Given the description of an element on the screen output the (x, y) to click on. 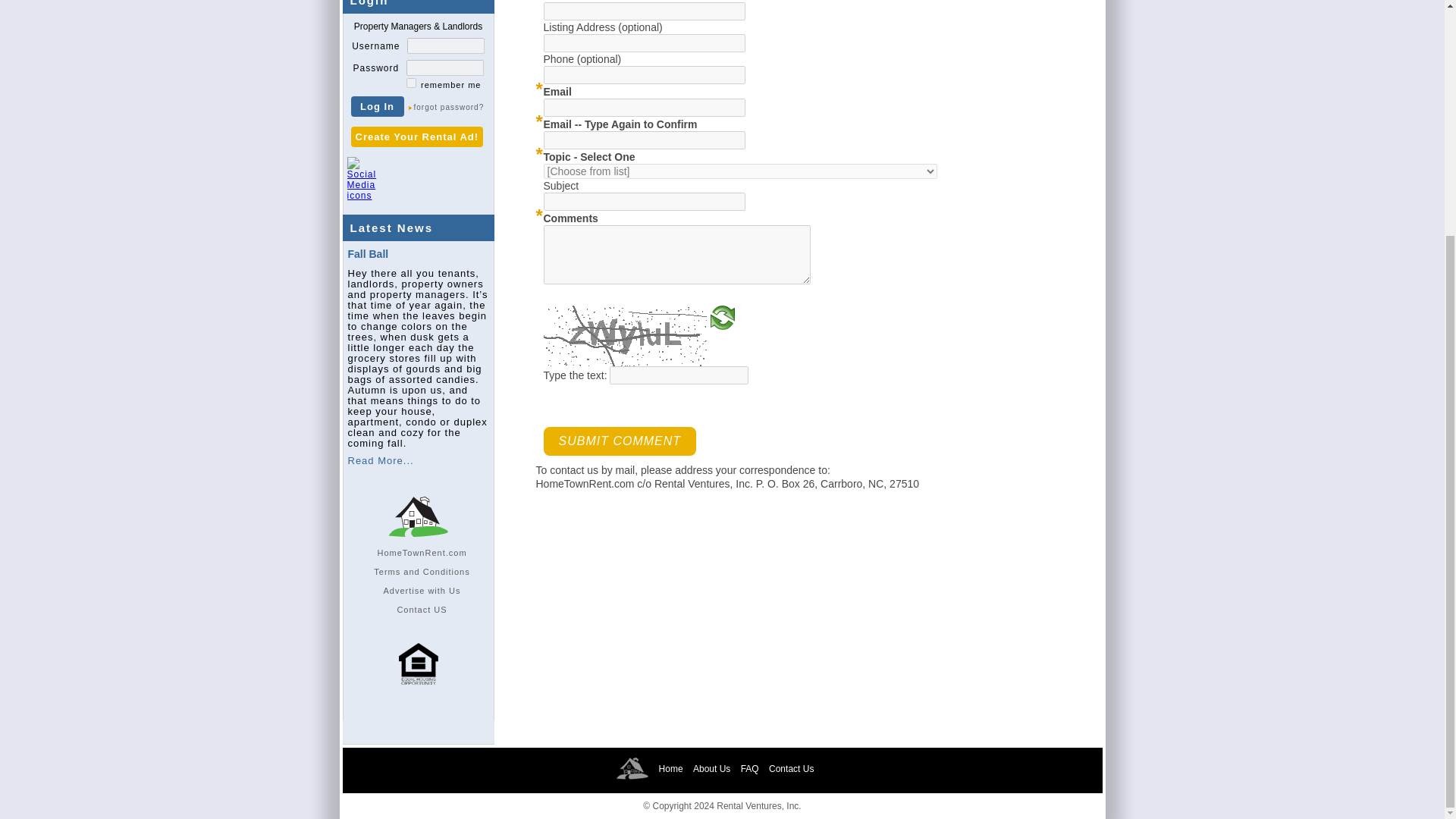
Contact US (421, 609)
Read More... (380, 460)
Market (421, 552)
Submit Comment (619, 440)
Log In (376, 106)
Read more (380, 460)
HomeTownRent.com (421, 552)
forgot password? (448, 107)
Advertise with Us (422, 590)
Facebook (393, 185)
Sidebar logo (417, 516)
Terms and Conditions (421, 571)
Log In (376, 106)
Social Media icons (362, 178)
Forgot password (448, 107)
